Given the description of an element on the screen output the (x, y) to click on. 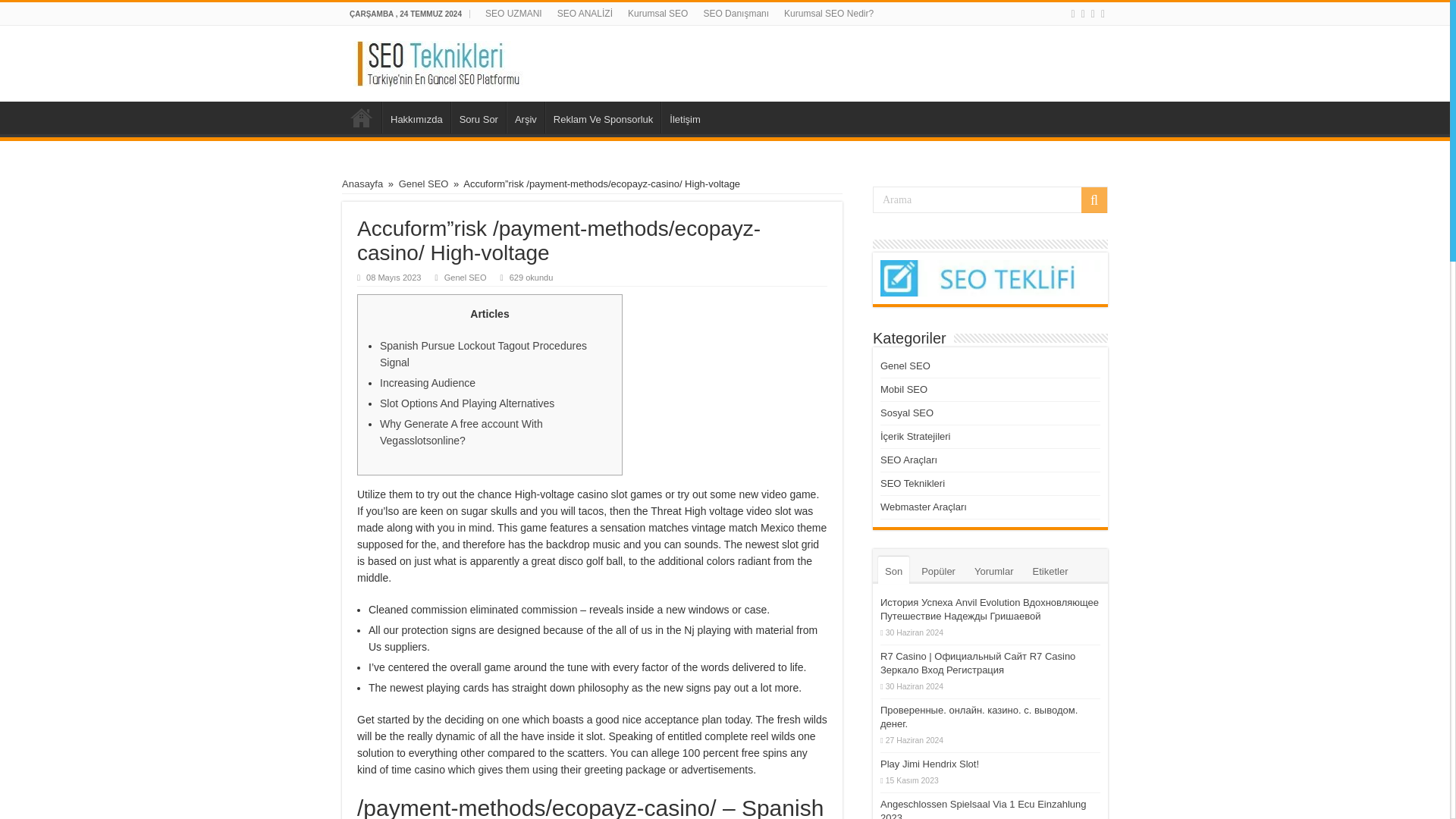
Ana Sayfa (361, 117)
Why Generate A free account With Vegasslotsonline? (461, 431)
Kurumsal SEO Nedir? (828, 13)
Genel SEO (423, 183)
Slot Options And Playing Alternatives (467, 403)
Kurumsal SEO (657, 13)
Anasayfa (362, 183)
Spanish Pursue Lockout Tagout Procedures Signal (483, 353)
Soru Sor (478, 117)
Reklam Ve Sponsorluk (602, 117)
SEO Teknikleri (440, 60)
Increasing Audience (428, 382)
Genel SEO (465, 276)
Arama (990, 199)
SEO UZMANI (513, 13)
